Given the description of an element on the screen output the (x, y) to click on. 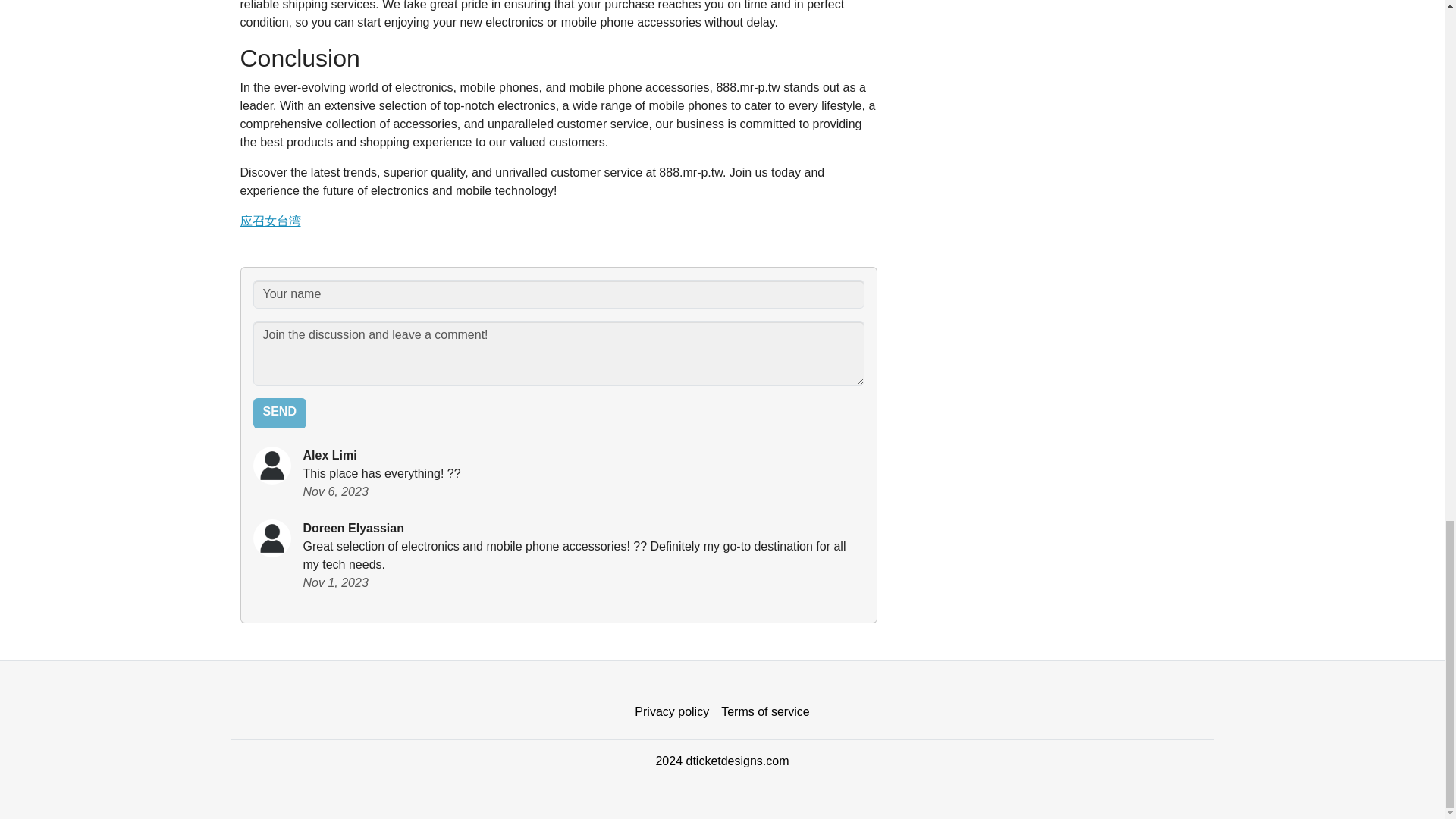
Send (279, 413)
Privacy policy (671, 711)
Send (279, 413)
Terms of service (764, 711)
